Given the description of an element on the screen output the (x, y) to click on. 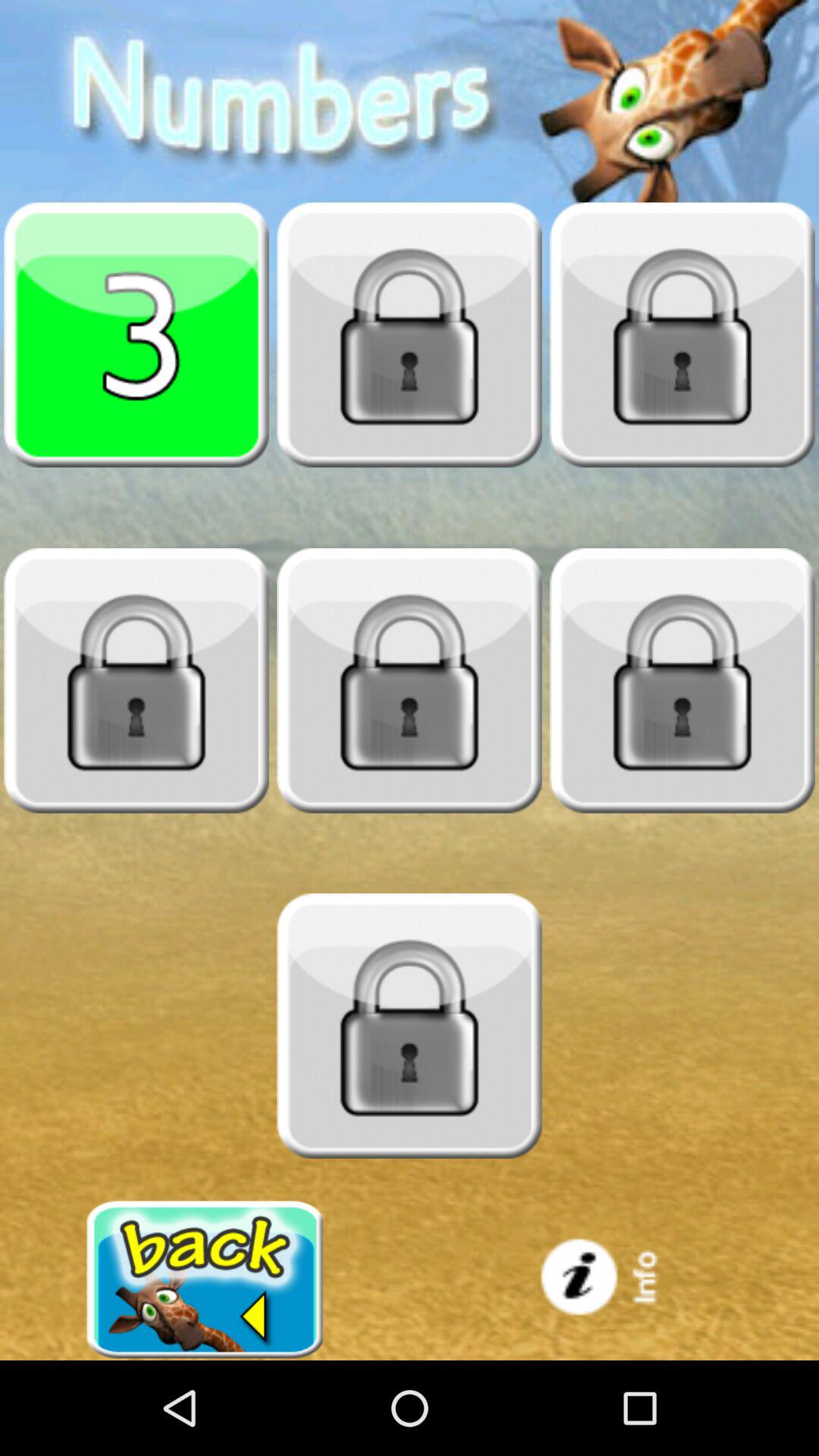
go to level (136, 680)
